Given the description of an element on the screen output the (x, y) to click on. 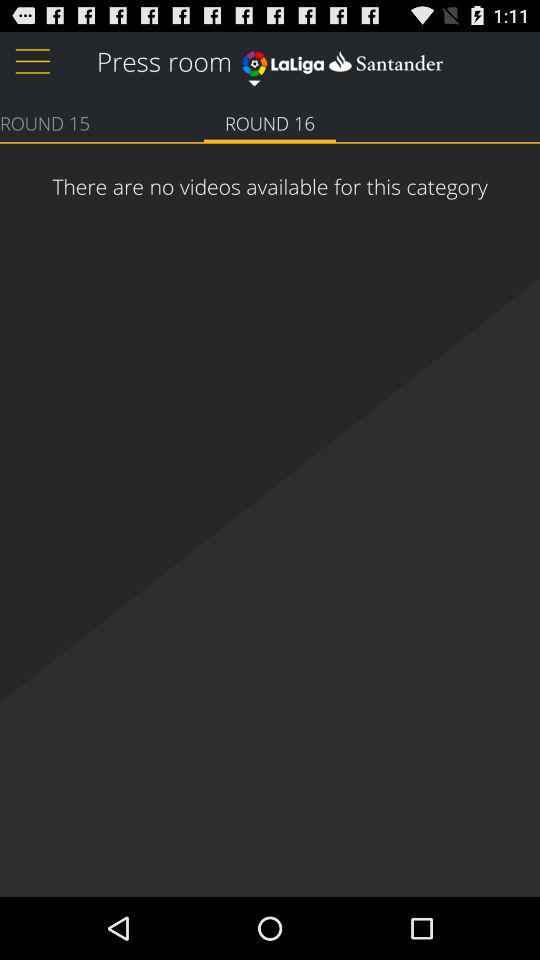
press icon above the there are no app (45, 122)
